Given the description of an element on the screen output the (x, y) to click on. 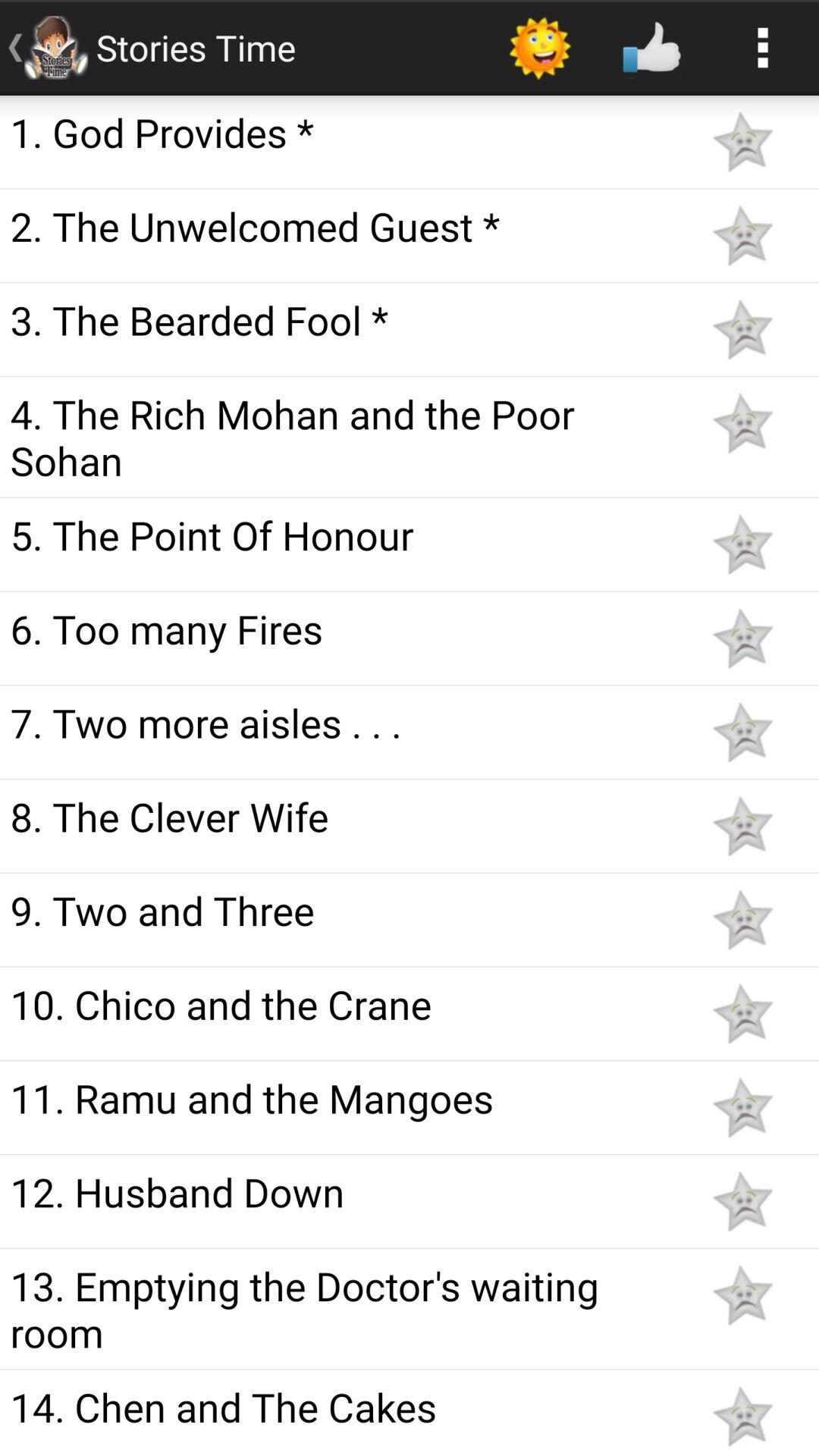
turn off item above 12. husband down icon (343, 1097)
